Given the description of an element on the screen output the (x, y) to click on. 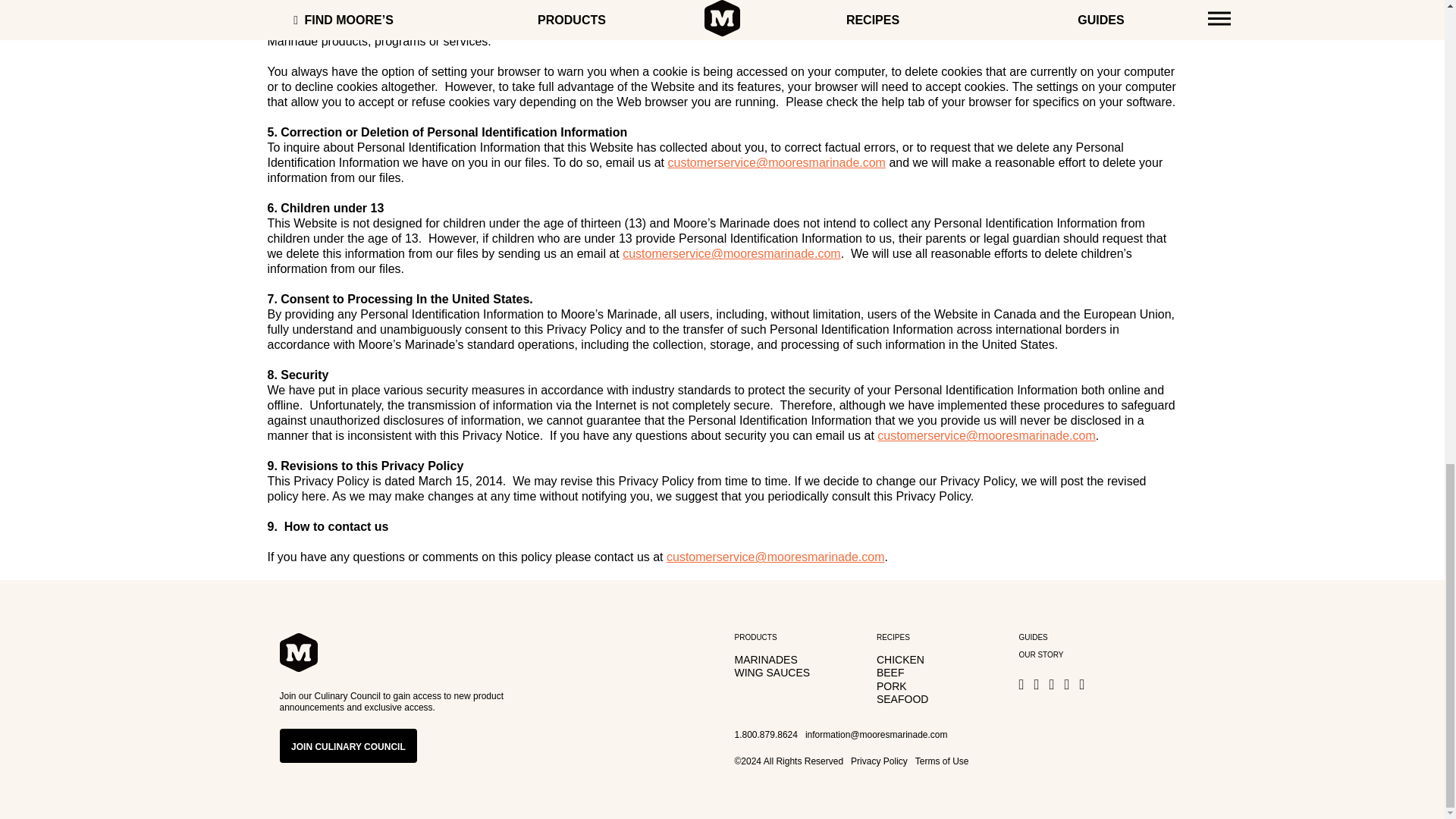
PRODUCTS (754, 637)
PINTEREST (1070, 684)
RECIPES (893, 637)
FACEBOOK (1023, 684)
WING SAUCES (771, 672)
YOUTUBE (1086, 684)
GUIDES (1031, 637)
BEEF (890, 672)
1.800.879.8624 (764, 735)
PORK (891, 686)
TWITTER (1054, 684)
TWITTER (1039, 684)
OUR STORY (1039, 654)
MARINADES (764, 659)
SEAFOOD (902, 698)
